Given the description of an element on the screen output the (x, y) to click on. 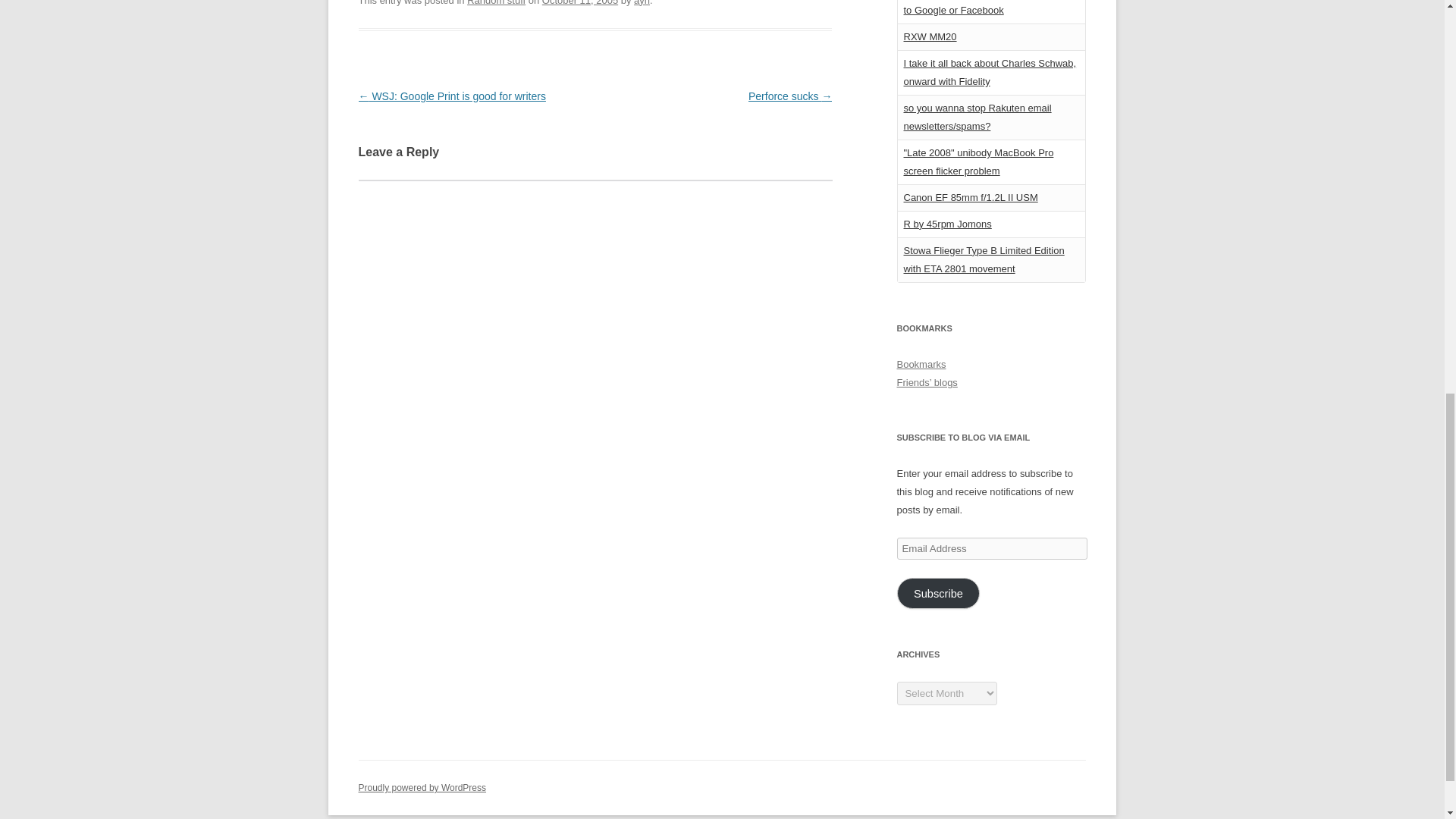
1:12 am (579, 2)
October 11, 2005 (579, 2)
ayn (641, 2)
RXW MM20 (930, 36)
View all posts by ayn (641, 2)
R by 45rpm Jomons (947, 224)
Random stuff (496, 2)
